Given the description of an element on the screen output the (x, y) to click on. 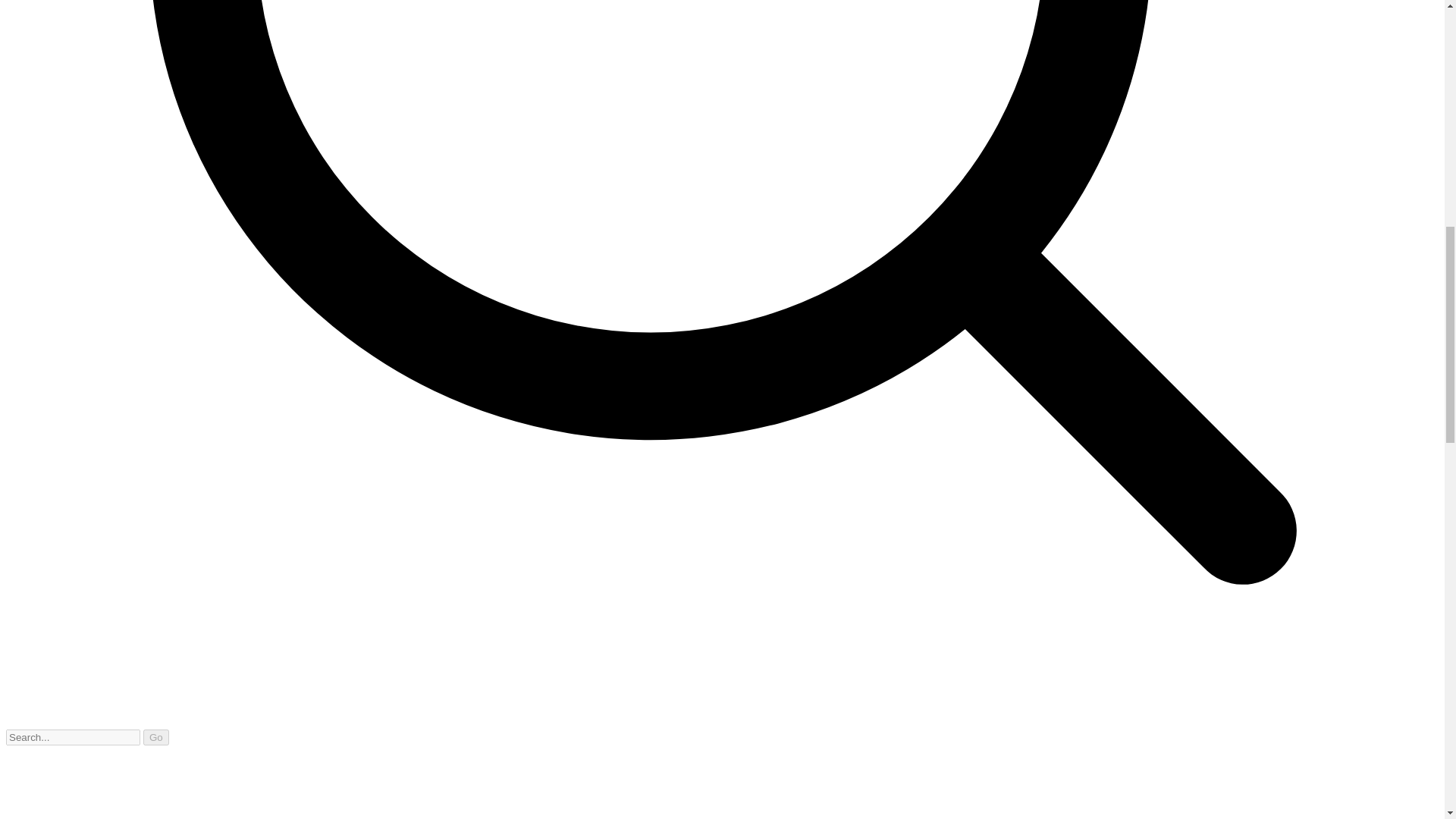
Go (155, 737)
